Given the description of an element on the screen output the (x, y) to click on. 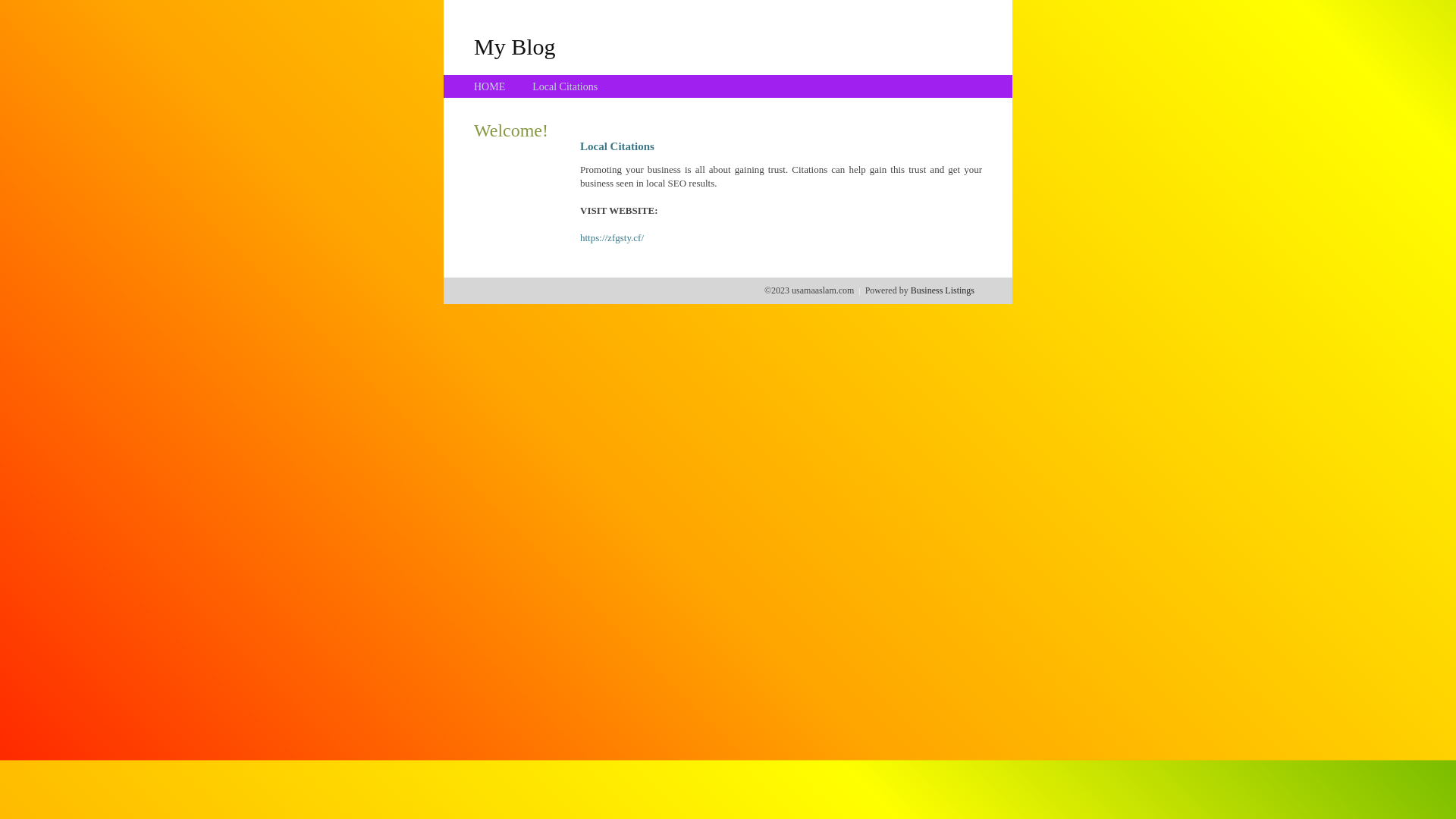
https://zfgsty.cf/ Element type: text (611, 237)
My Blog Element type: text (514, 46)
Local Citations Element type: text (564, 86)
Business Listings Element type: text (942, 290)
HOME Element type: text (489, 86)
